Given the description of an element on the screen output the (x, y) to click on. 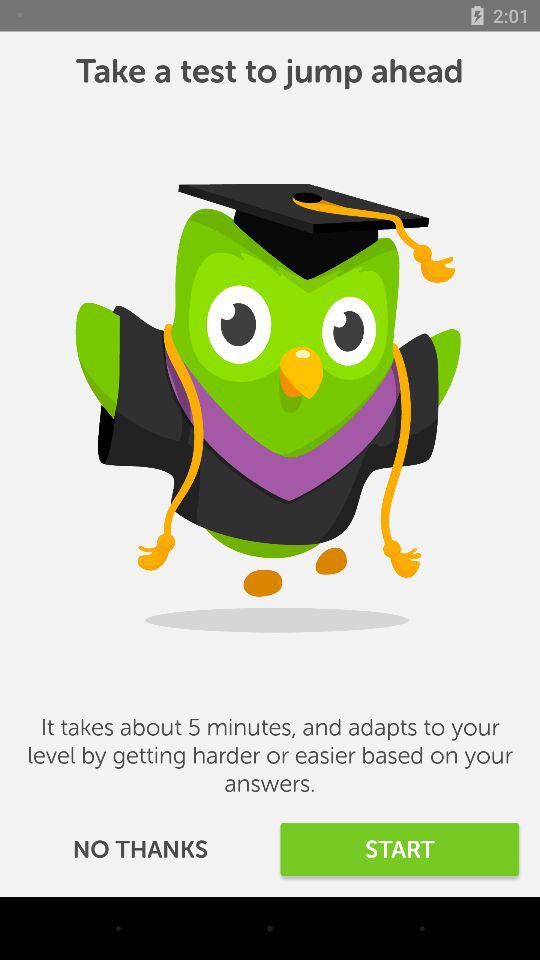
choose the start item (399, 849)
